Given the description of an element on the screen output the (x, y) to click on. 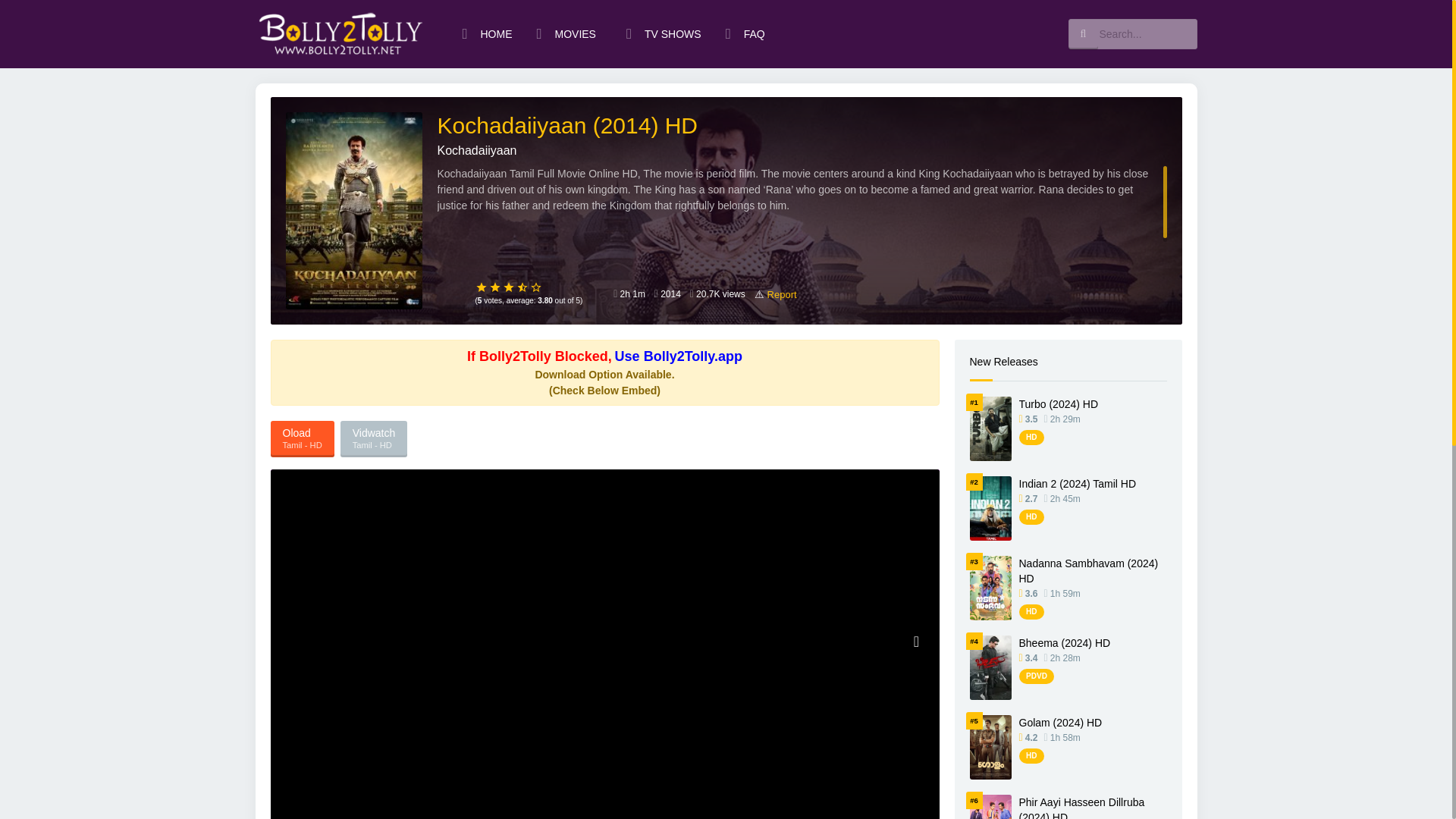
HOME (486, 33)
4 Stars (522, 287)
5 Stars (536, 287)
FAQ (745, 33)
3 Stars (508, 287)
MOVIES (569, 33)
2 Stars (494, 287)
TV SHOWS (663, 33)
1 Star (480, 287)
